Given the description of an element on the screen output the (x, y) to click on. 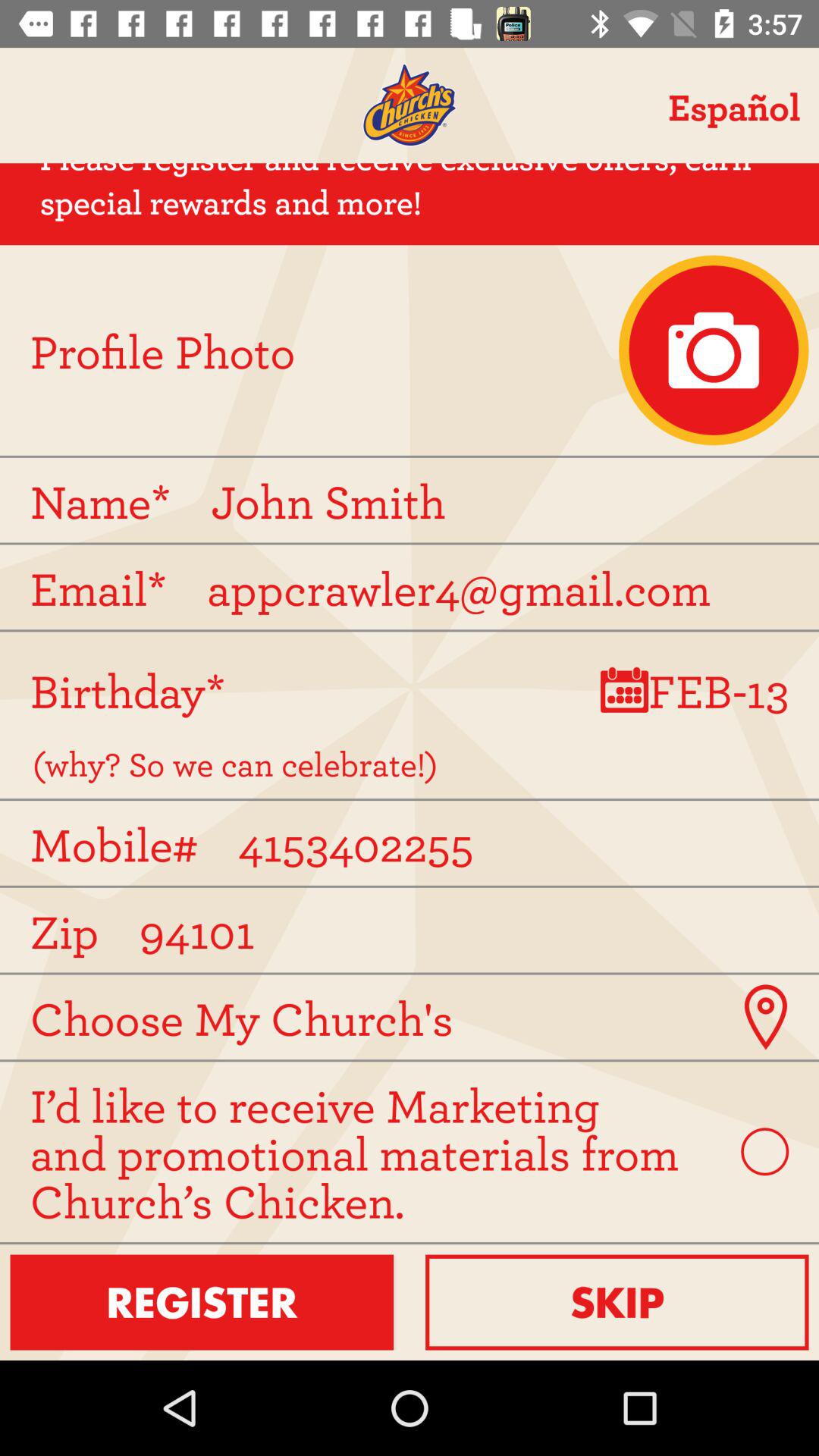
upload profile photo (713, 350)
